Given the description of an element on the screen output the (x, y) to click on. 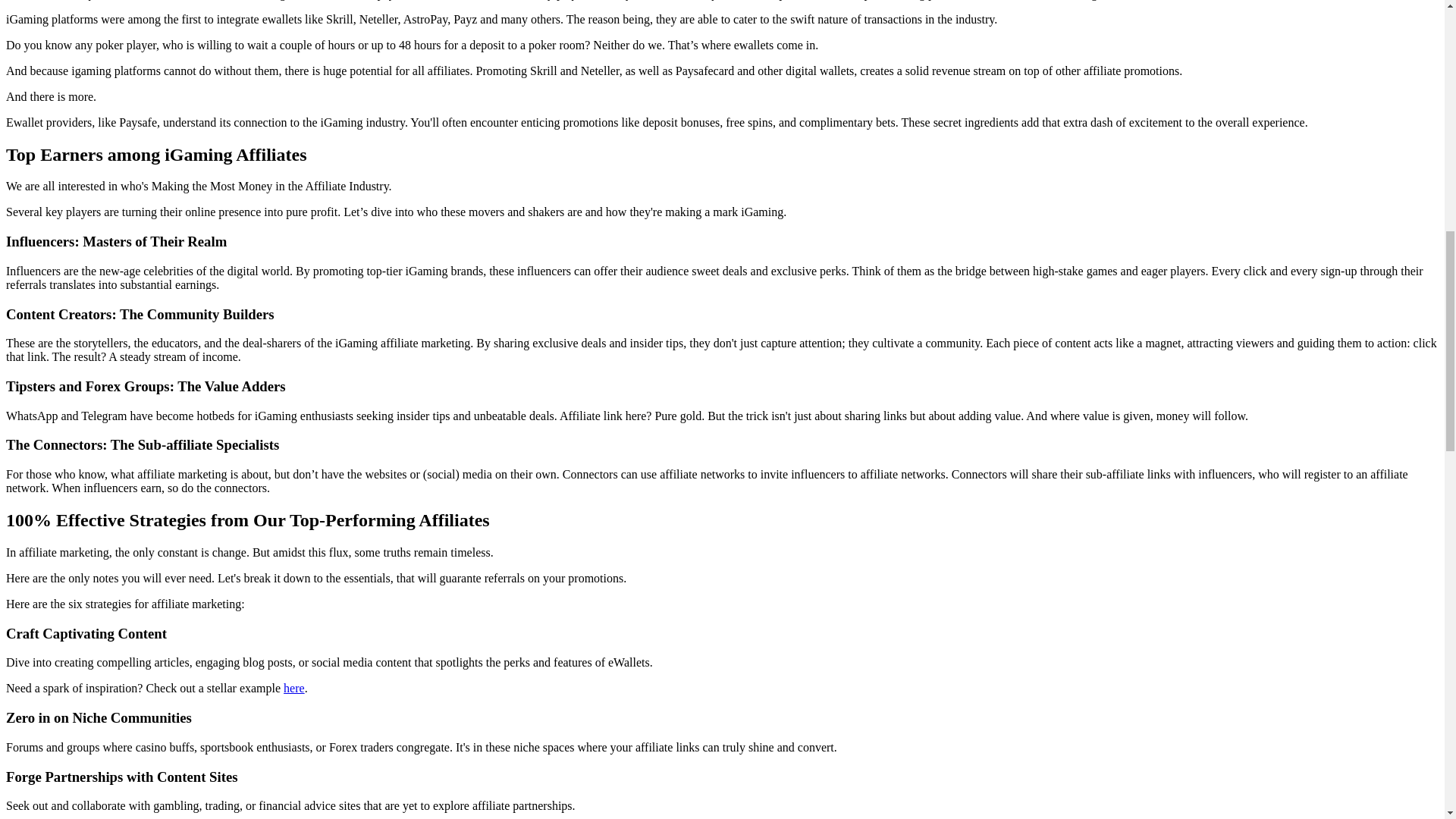
here (293, 687)
